Given the description of an element on the screen output the (x, y) to click on. 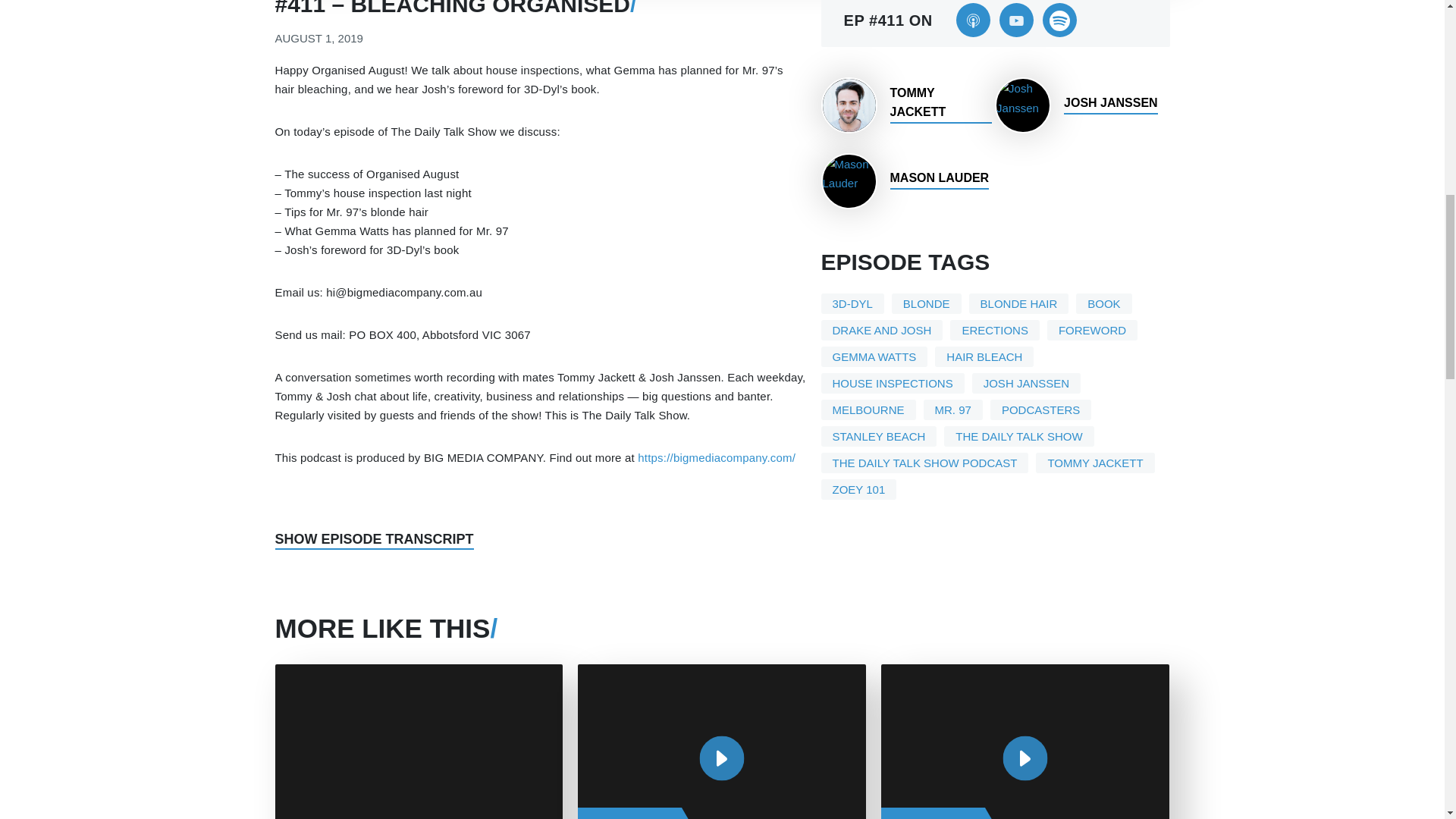
MASON LAUDER (906, 181)
MELBOURNE (868, 409)
ERECTIONS (994, 330)
TOMMY JACKETT (906, 104)
DRAKE AND JOSH (881, 330)
BOOK (1103, 303)
3D-DYL (852, 303)
HOUSE INSPECTIONS (892, 383)
JOSH JANSSEN (1080, 104)
BLONDE HAIR (1018, 303)
JOSH JANSSEN (1026, 383)
BLONDE (925, 303)
MR. 97 (952, 409)
HAIR BLEACH (983, 356)
GEMMA WATTS (874, 356)
